Given the description of an element on the screen output the (x, y) to click on. 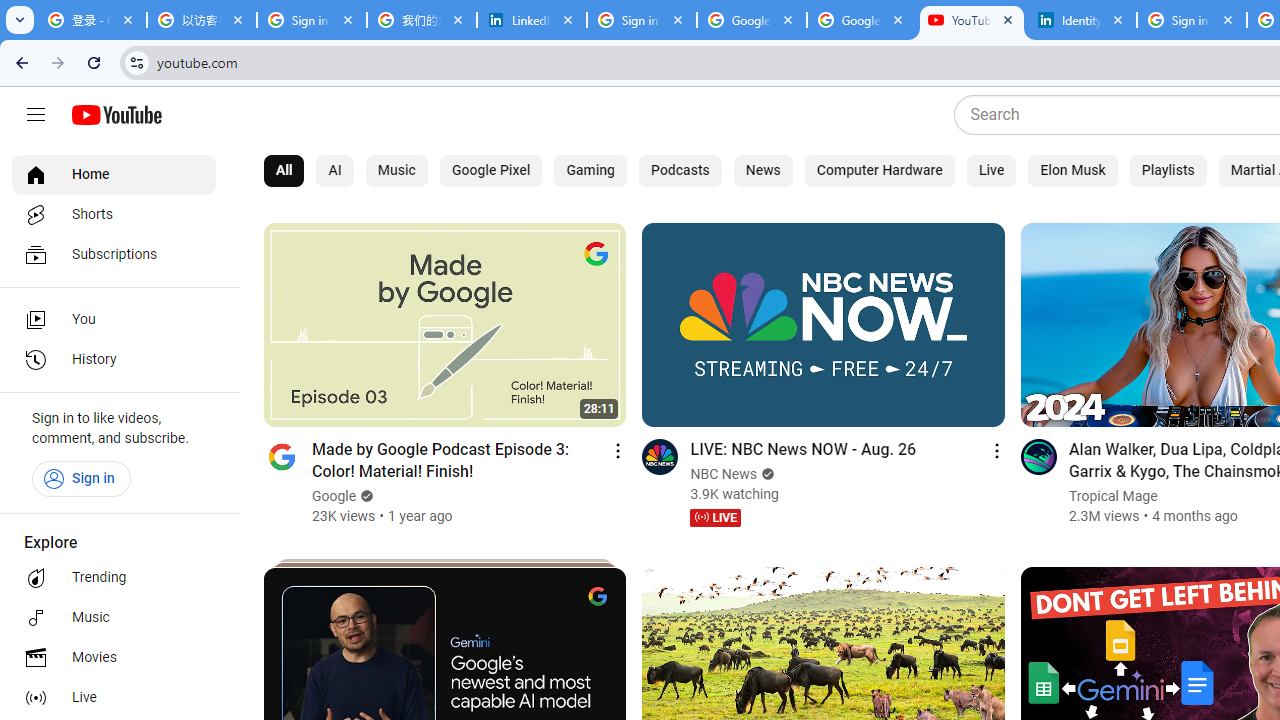
Verified (765, 474)
AI (335, 170)
Podcasts (679, 170)
LinkedIn Privacy Policy (532, 20)
All (283, 170)
Elon Musk (1072, 170)
Sign in - Google Accounts (312, 20)
News (763, 170)
Live (991, 170)
Google Pixel (490, 170)
NBC News (724, 474)
